Given the description of an element on the screen output the (x, y) to click on. 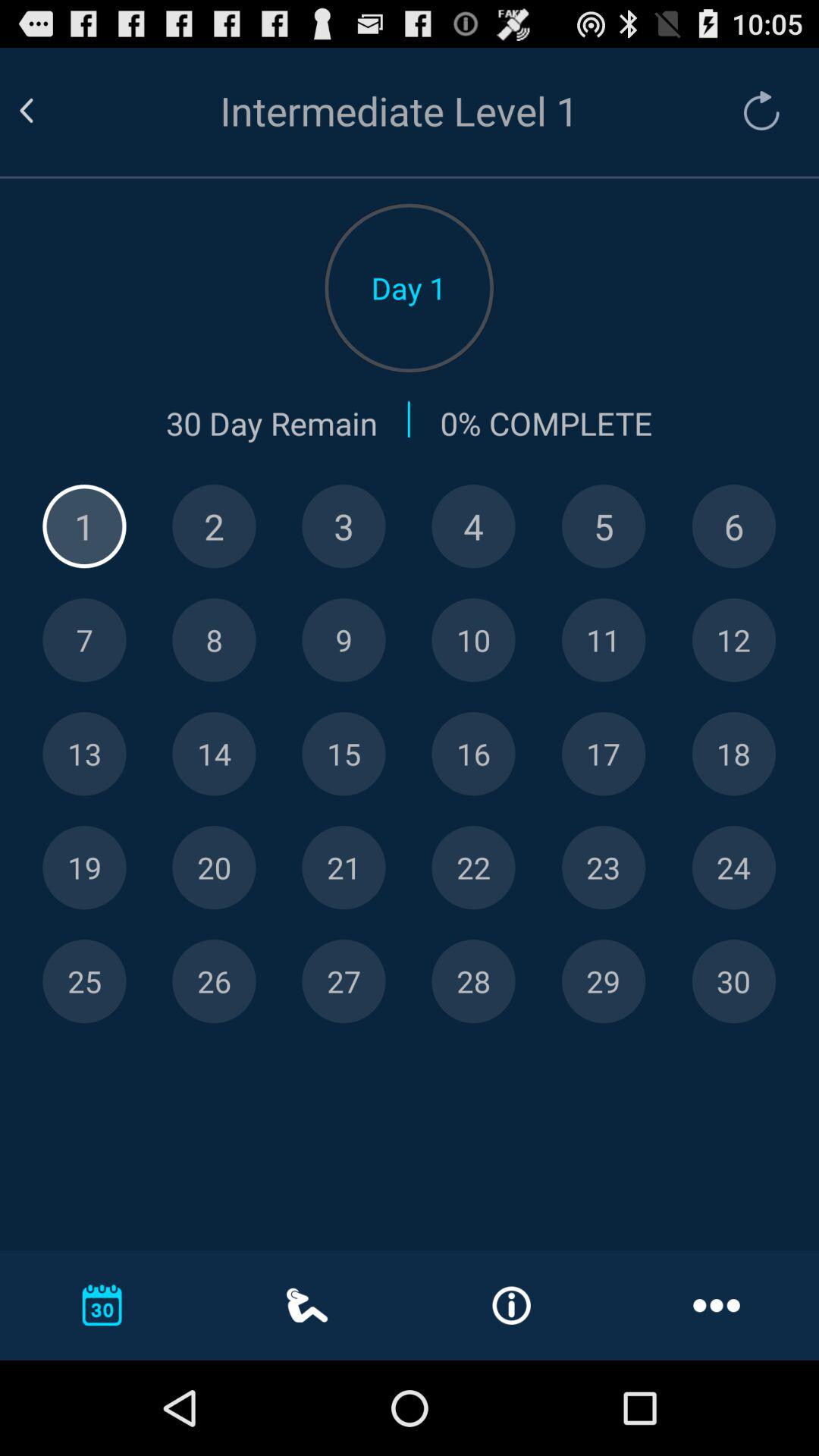
select 15 (343, 753)
